Given the description of an element on the screen output the (x, y) to click on. 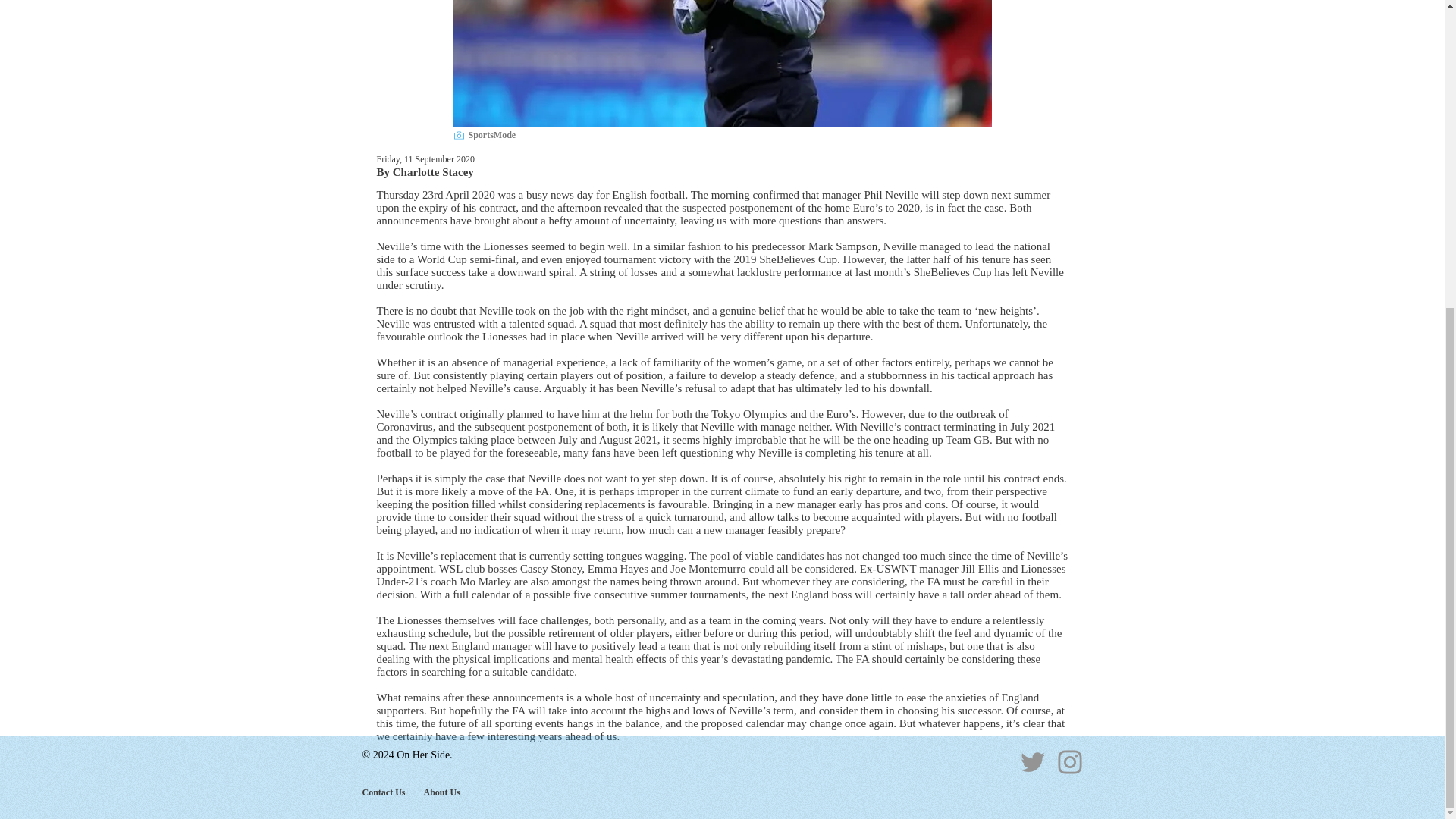
About Us (441, 792)
By Charlotte Stacey (424, 171)
Contact Us (384, 792)
Neville.jpg (721, 63)
